Given the description of an element on the screen output the (x, y) to click on. 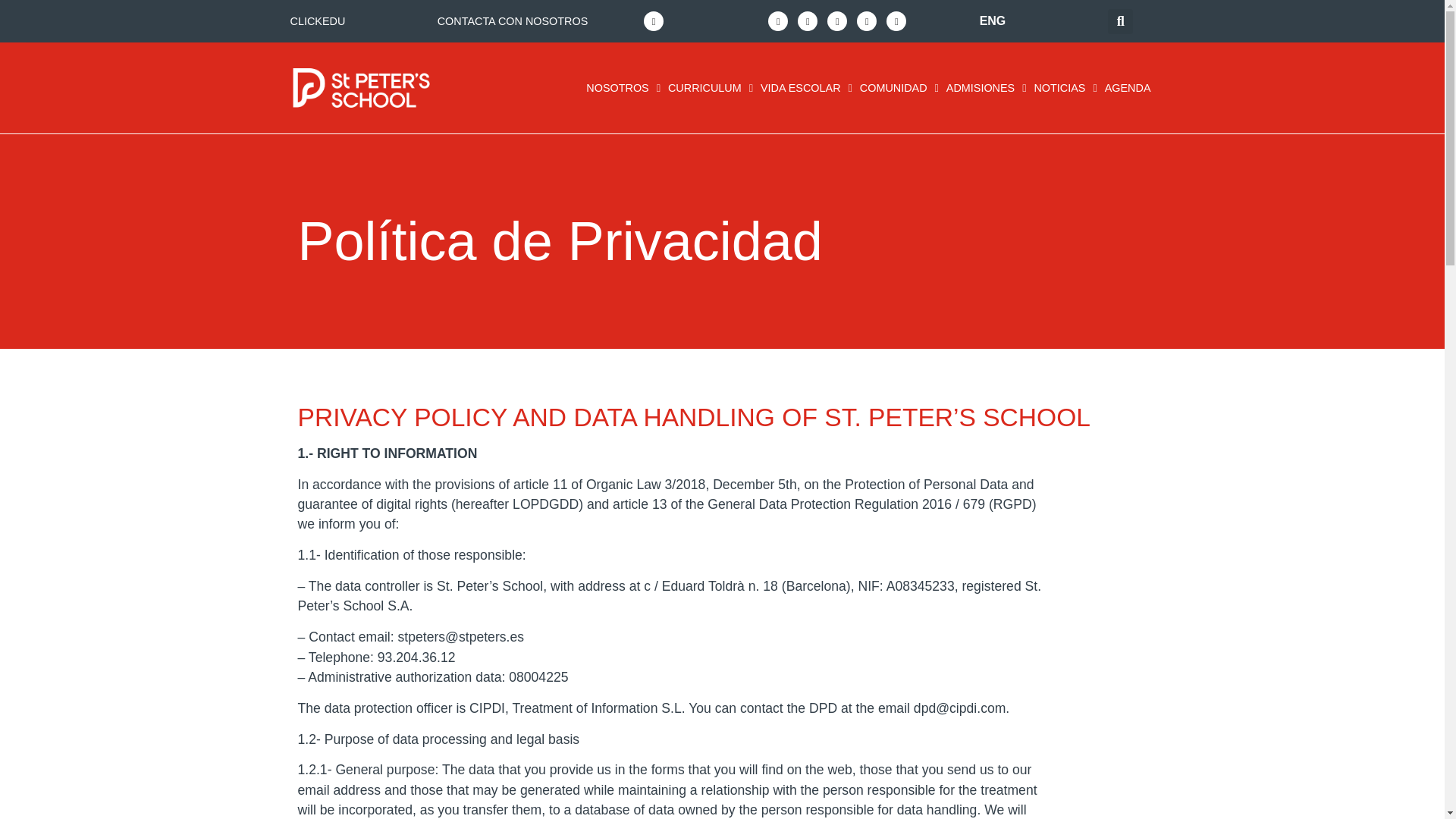
CLICKEDU (317, 21)
ENG (992, 21)
CONTACTA CON NOSOTROS (513, 21)
CURRICULUM (710, 87)
ENG (992, 21)
VIDA ESCOLAR (806, 87)
NOSOTROS (622, 87)
